Given the description of an element on the screen output the (x, y) to click on. 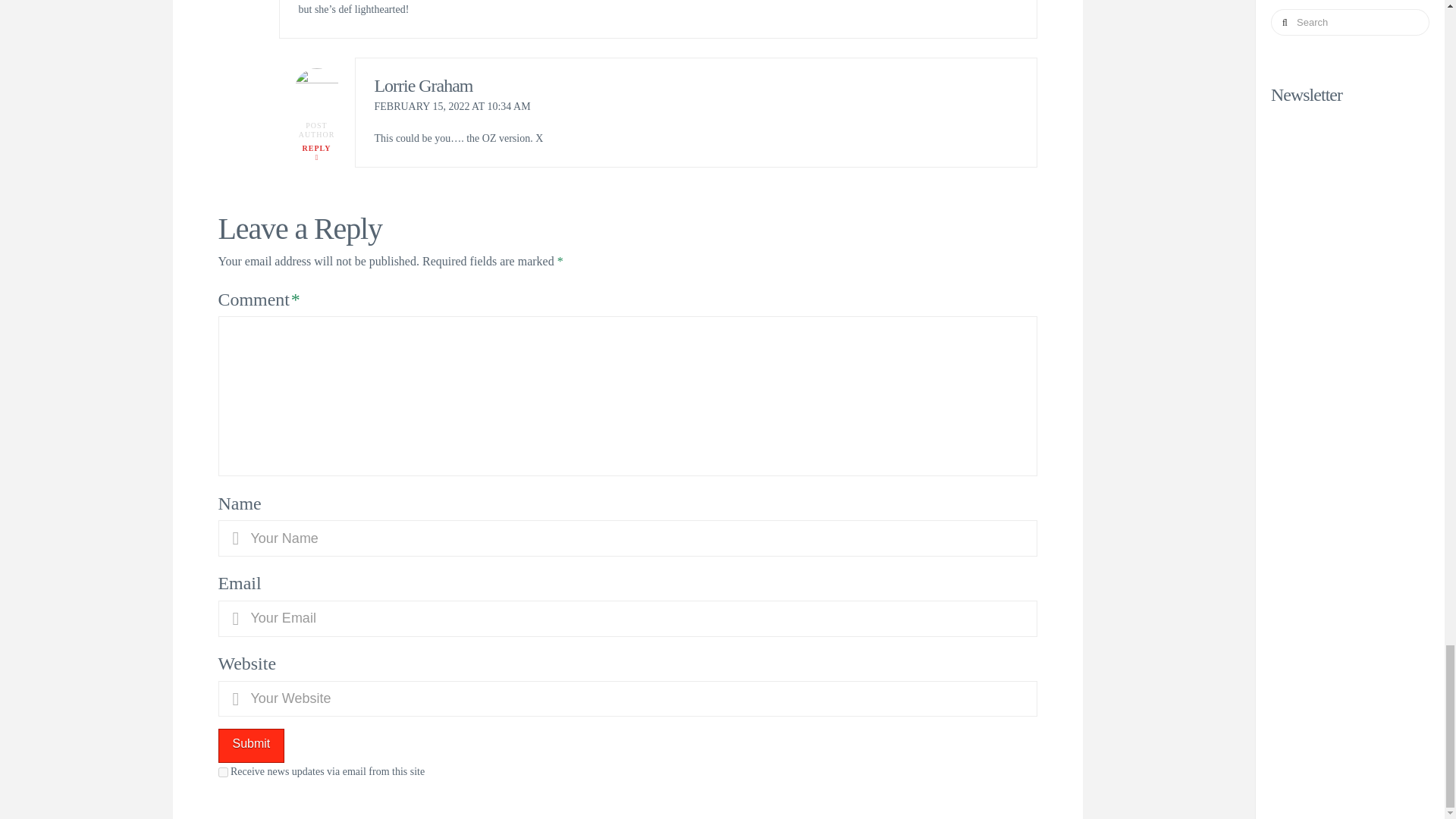
Submit (251, 745)
1 (223, 772)
